Given the description of an element on the screen output the (x, y) to click on. 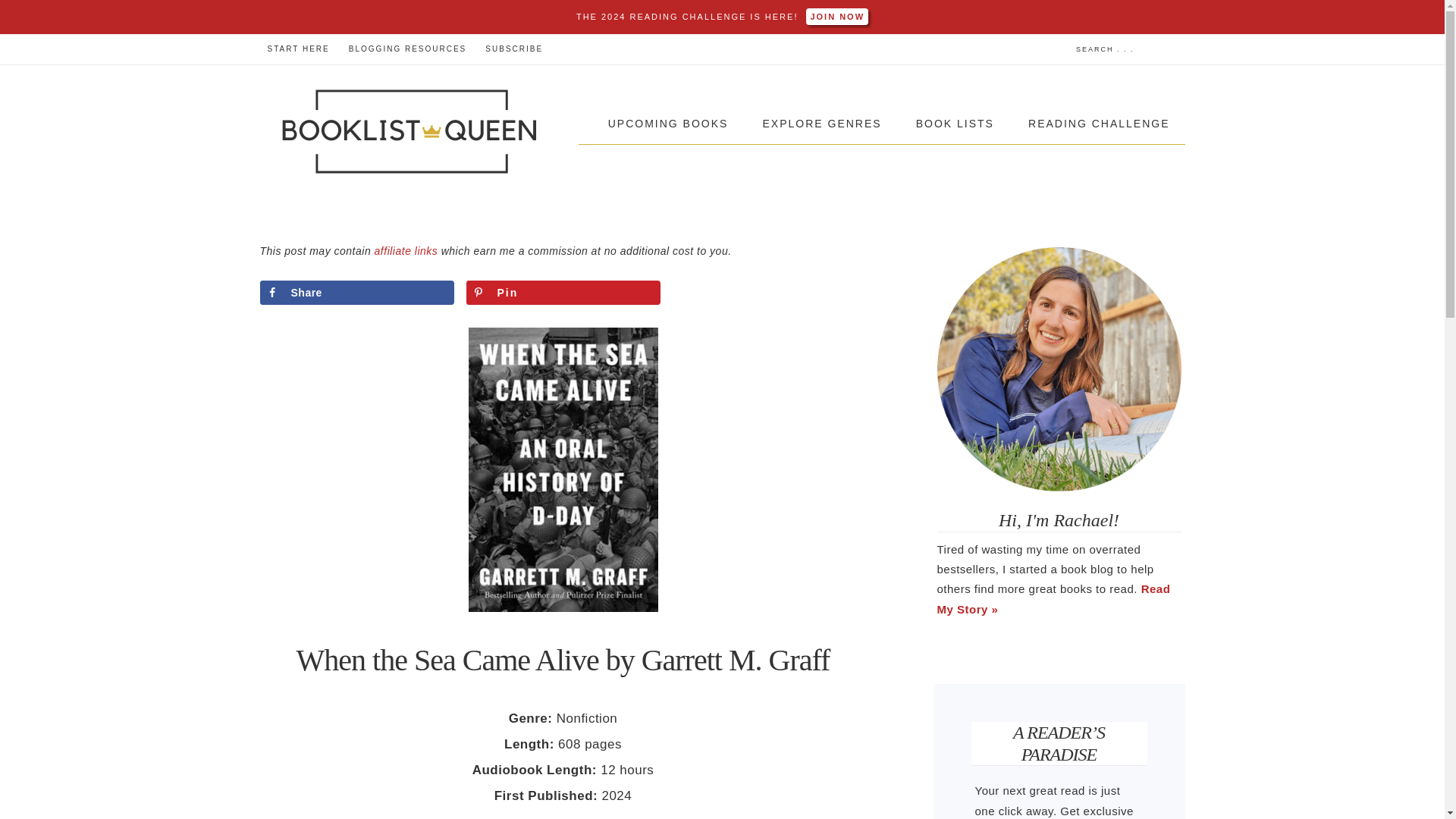
Share on X (768, 292)
Share (355, 292)
UPCOMING BOOKS (668, 123)
BOOK LISTS (955, 123)
SUBSCRIBE (513, 49)
Pin (562, 292)
EXPLORE GENRES (821, 123)
START HERE (297, 49)
Tweet (768, 292)
